Given the description of an element on the screen output the (x, y) to click on. 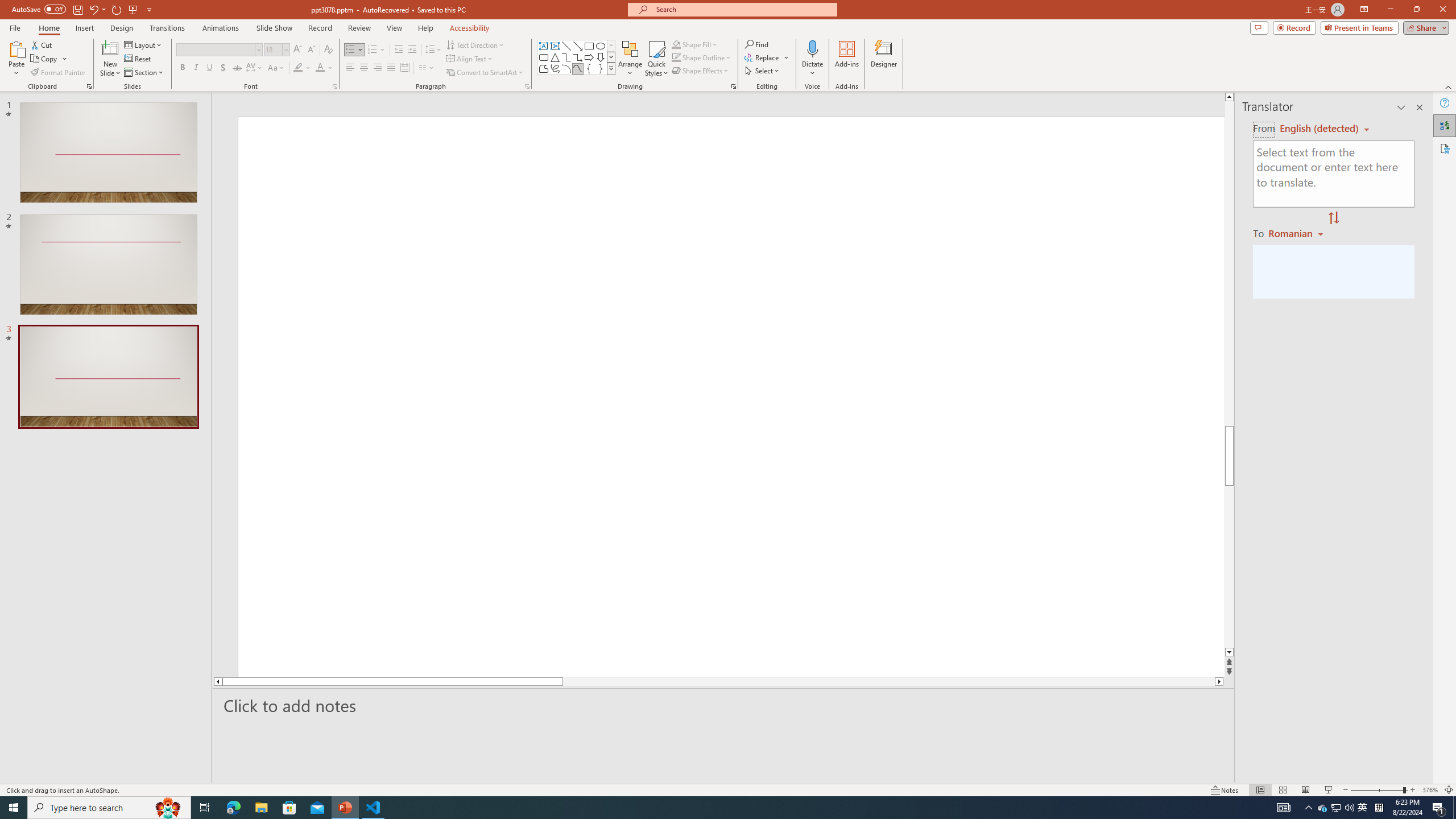
Text Highlight Color (302, 67)
Zoom (1379, 790)
From Beginning (133, 9)
Replace... (762, 56)
Quick Styles (656, 58)
Copy (45, 58)
Arc (566, 68)
Connector: Elbow (566, 57)
Notes  (1225, 790)
Collapse the Ribbon (1448, 86)
Reset (138, 58)
Animations (220, 28)
